Given the description of an element on the screen output the (x, y) to click on. 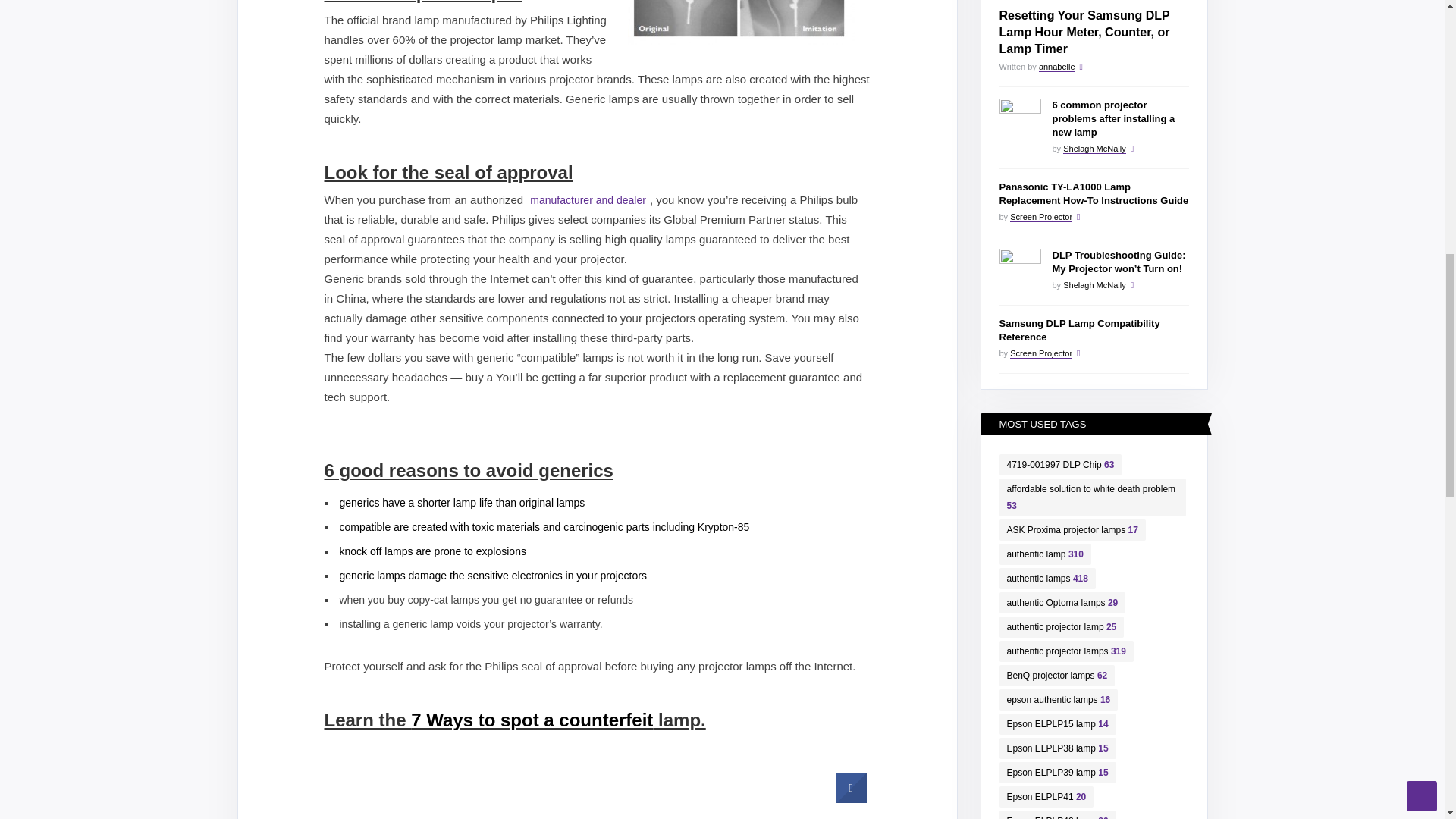
knock off lamps are prone to explosions (432, 551)
generics have a shorter lamp life than original lamps (462, 502)
7 Ways to spot a counterfeit (531, 720)
Share on Facebook (850, 798)
manufacturer and dealer (587, 199)
